Given the description of an element on the screen output the (x, y) to click on. 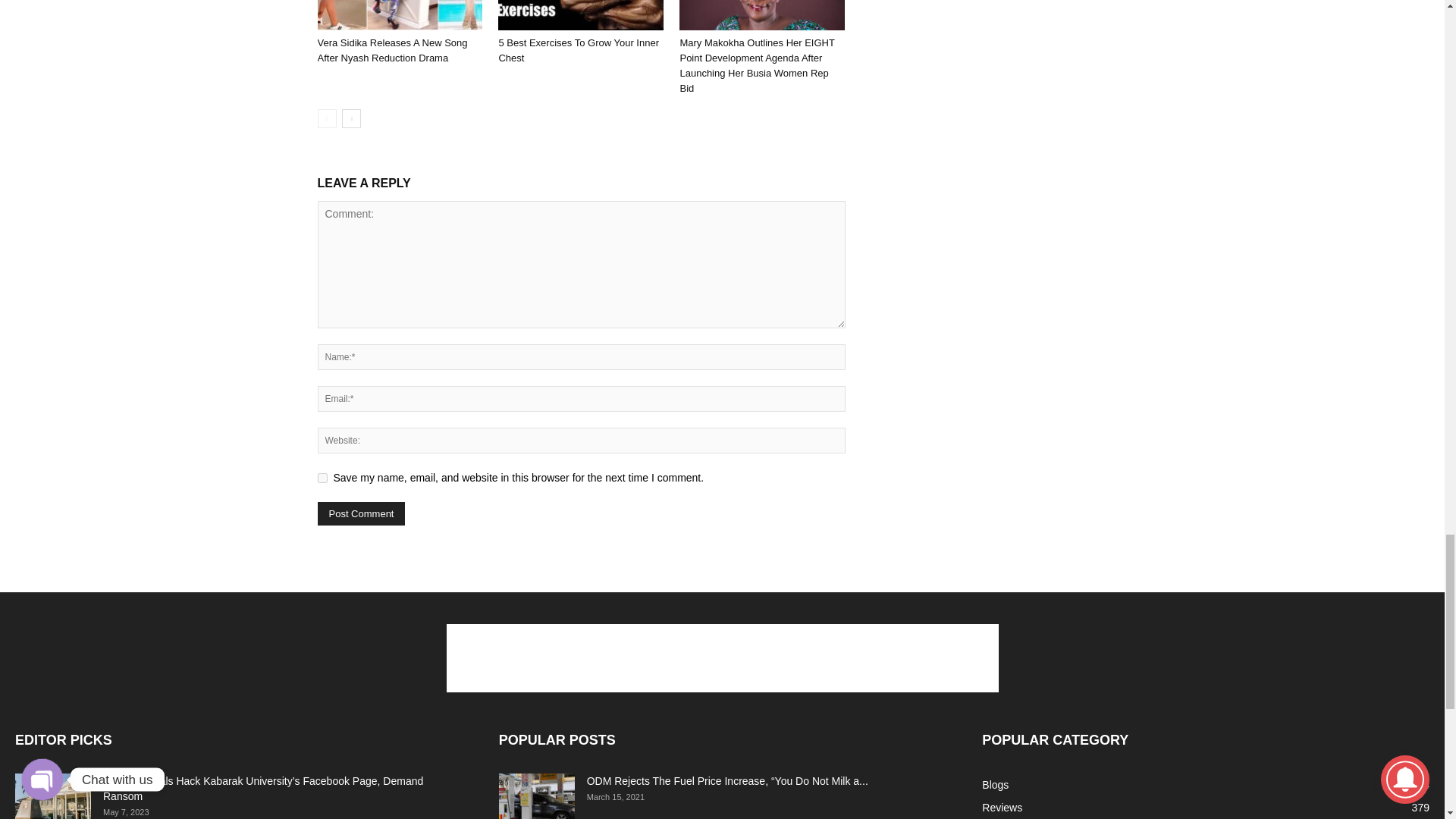
Post Comment (360, 513)
yes (321, 478)
